Given the description of an element on the screen output the (x, y) to click on. 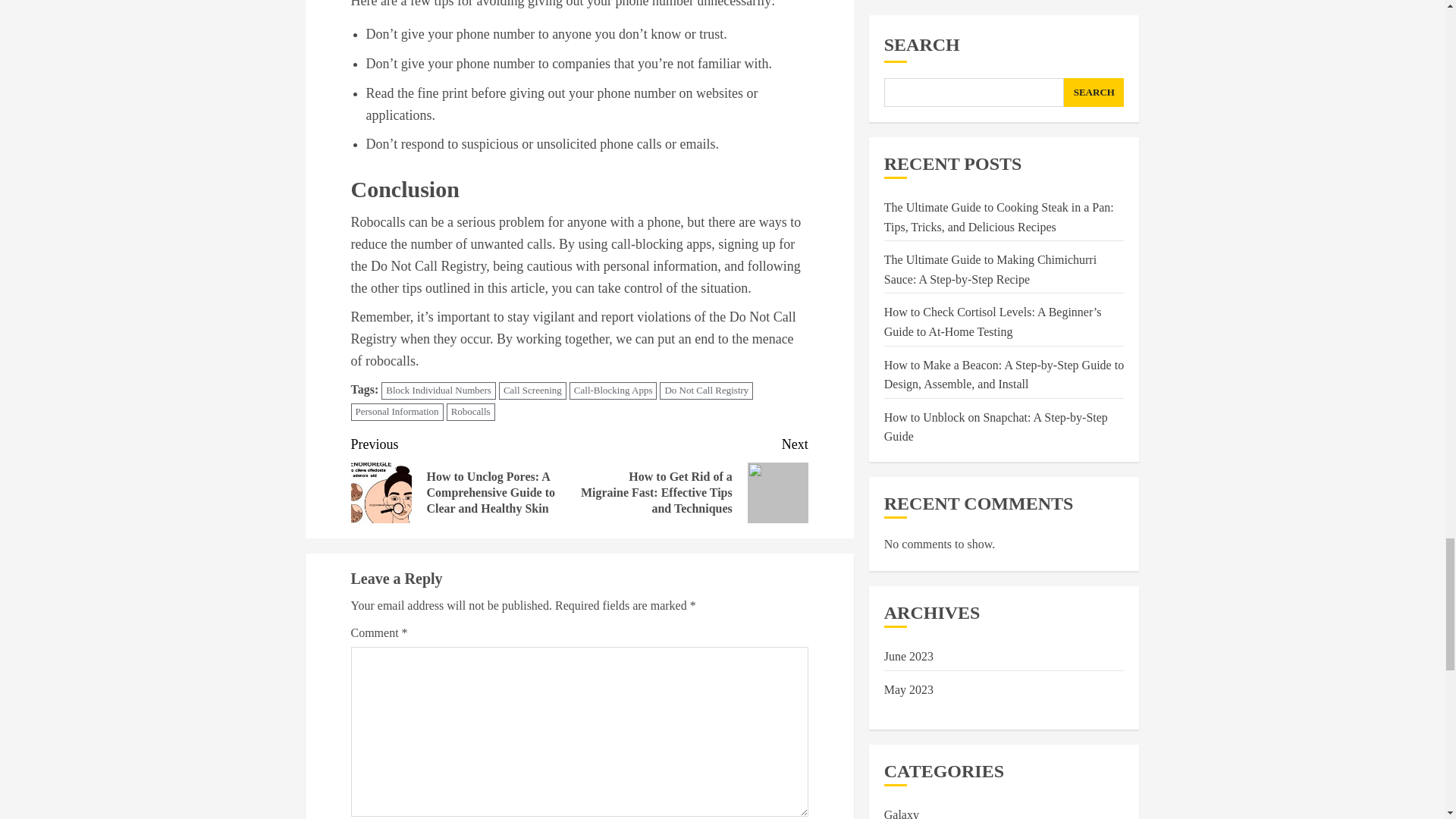
Do Not Call Registry (705, 390)
Call-Blocking Apps (613, 390)
Personal Information (396, 411)
Call Screening (532, 390)
Robocalls (470, 411)
Block Individual Numbers (438, 390)
